Given the description of an element on the screen output the (x, y) to click on. 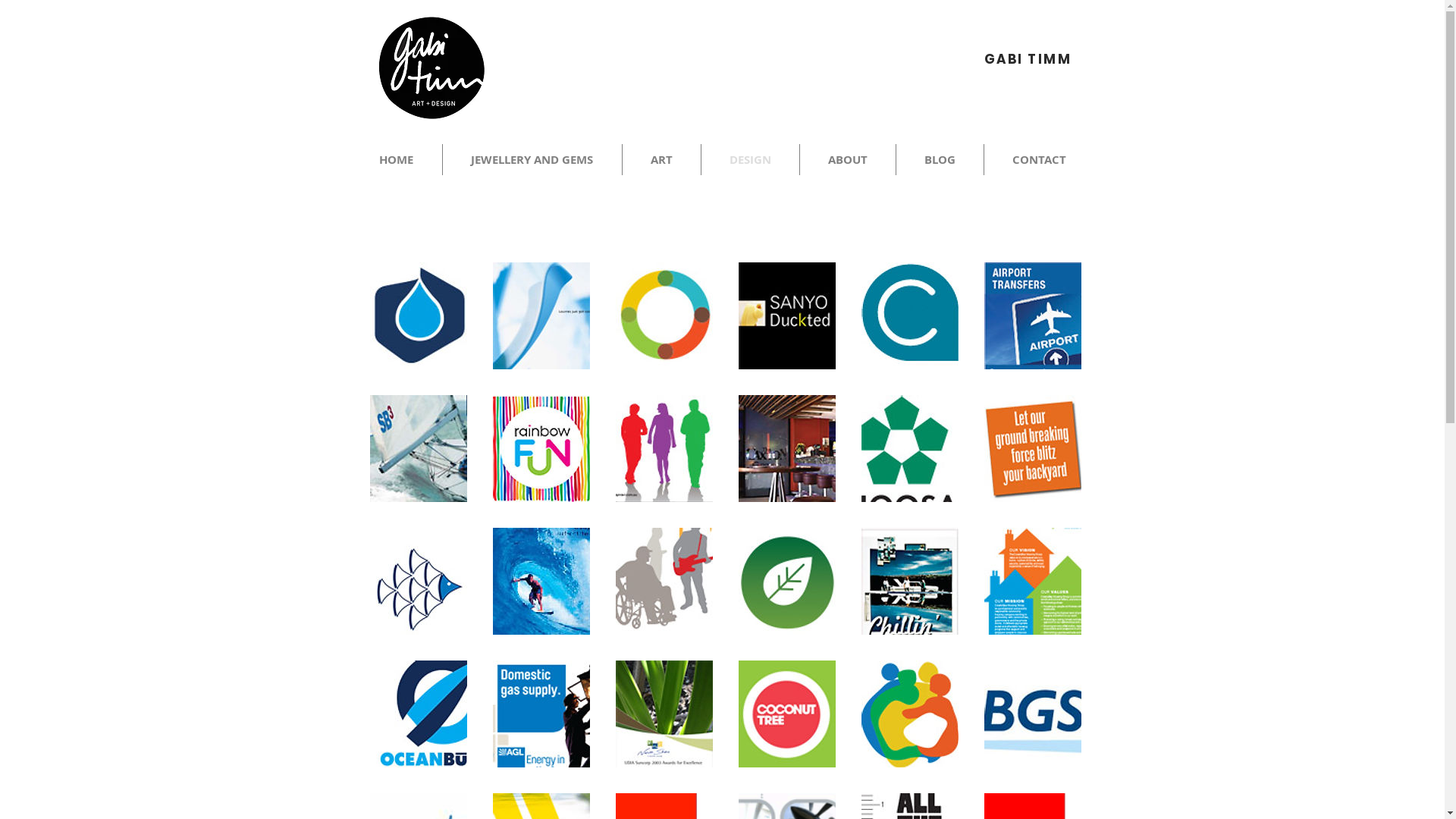
DESIGN Element type: text (749, 159)
GABI  Element type: text (1006, 59)
BLOG Element type: text (939, 159)
HOME Element type: text (395, 159)
CONTACT Element type: text (1039, 159)
ART Element type: text (660, 159)
TIMM Element type: text (1049, 59)
JEWELLERY AND GEMS Element type: text (531, 159)
ABOUT Element type: text (846, 159)
